Given the description of an element on the screen output the (x, y) to click on. 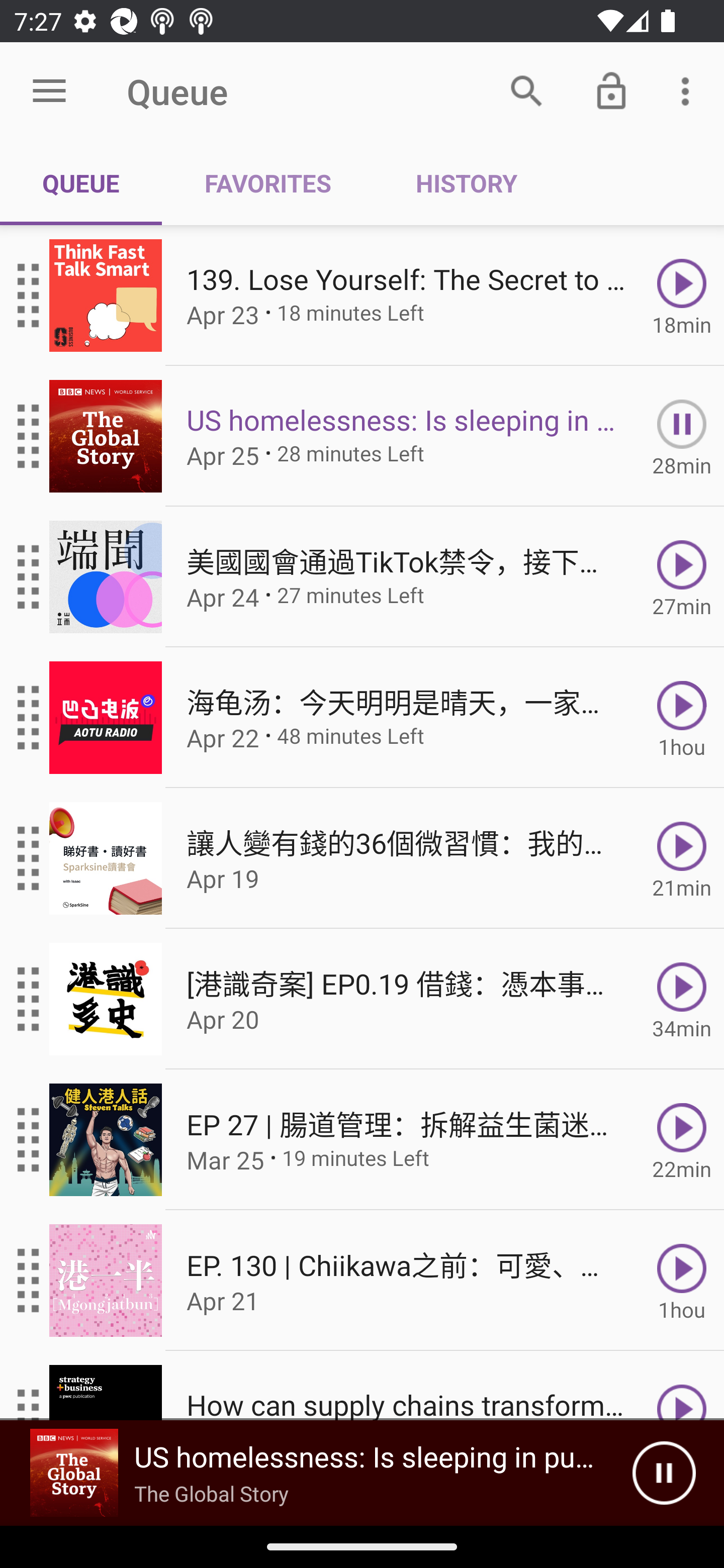
Open menu (49, 91)
Search (526, 90)
Lock Queue (611, 90)
More options (688, 90)
QUEUE (81, 183)
FAVORITES (267, 183)
HISTORY (465, 183)
Play 18min (681, 295)
Play 28min (681, 435)
Play 27min (681, 576)
Play 1hou (681, 717)
Play 21min (681, 858)
Play 34min (681, 998)
Play 22min (681, 1139)
Play 1hou (681, 1280)
Play (681, 1385)
Pause (663, 1472)
